Given the description of an element on the screen output the (x, y) to click on. 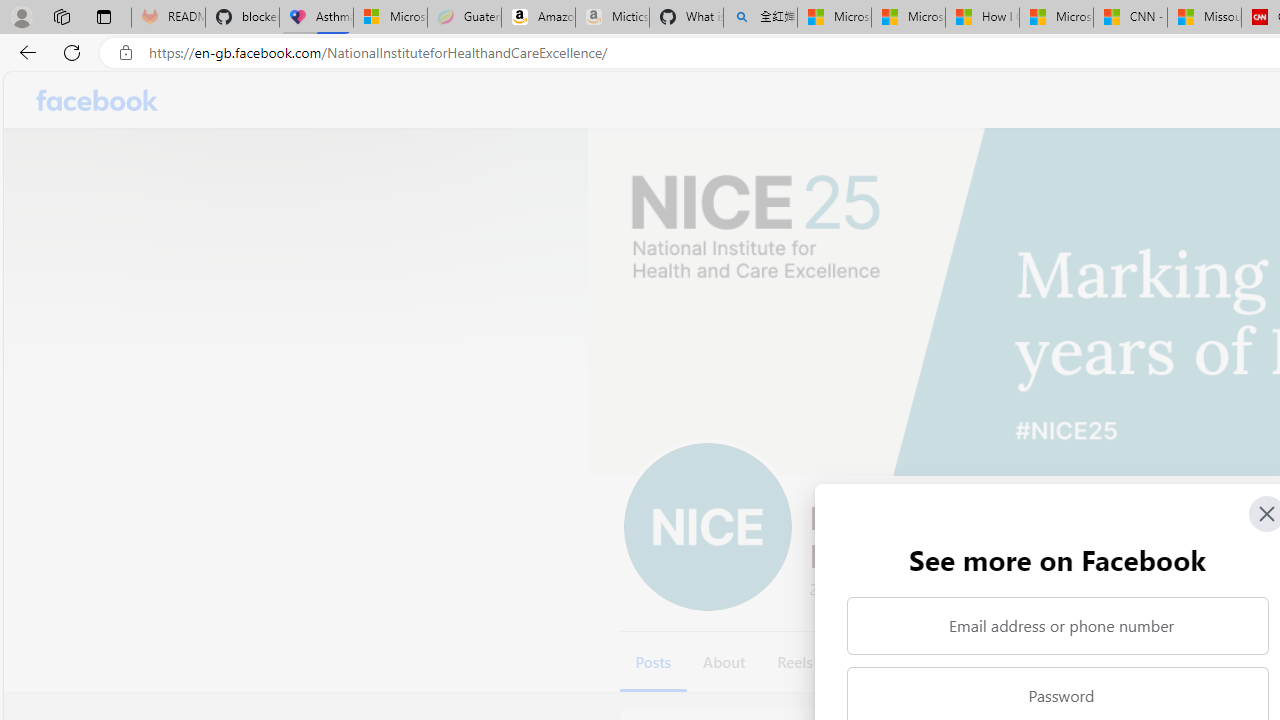
How I Got Rid of Microsoft Edge's Unnecessary Features (981, 17)
Facebook (97, 99)
Facebook (97, 99)
